Given the description of an element on the screen output the (x, y) to click on. 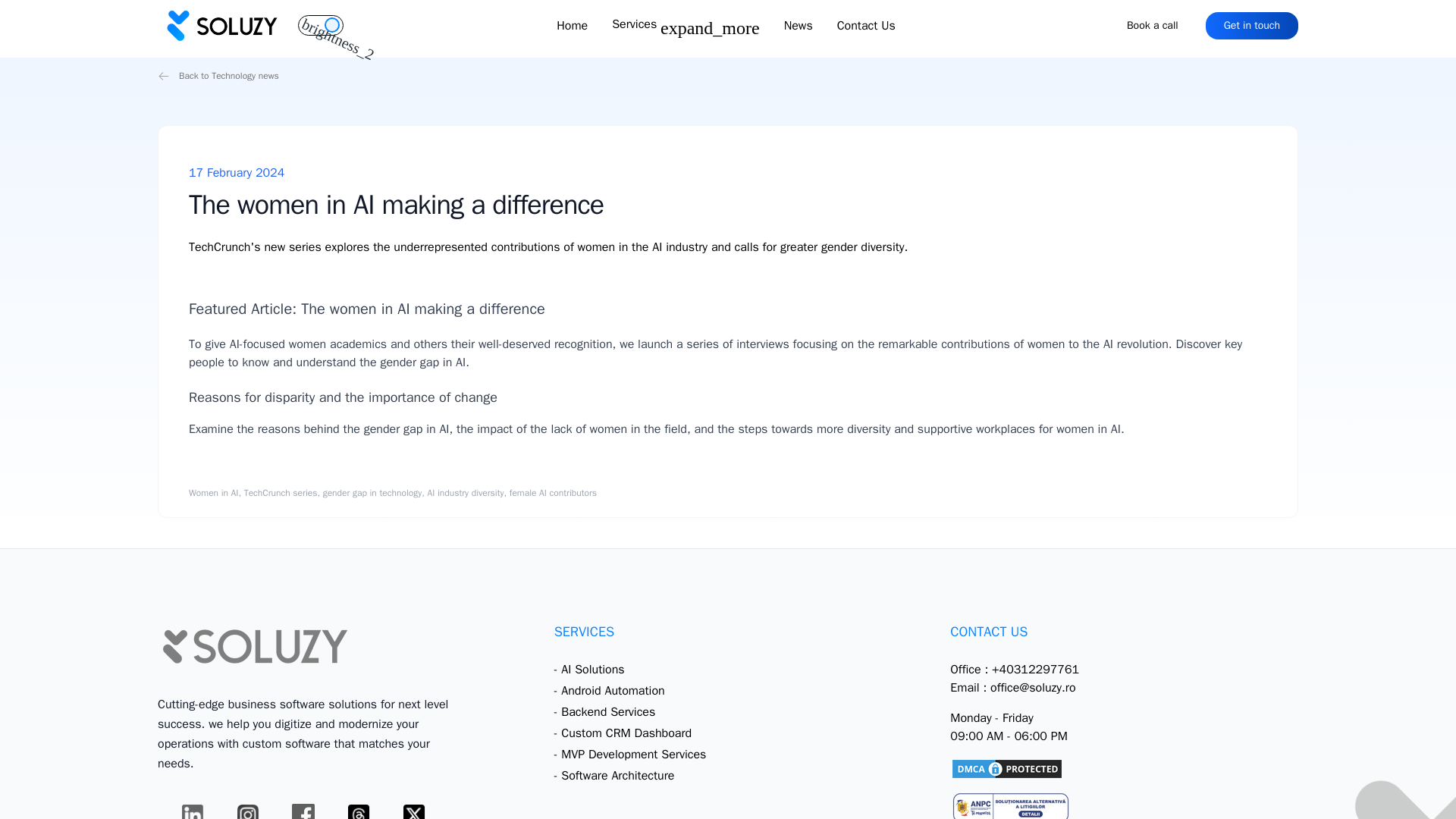
- Software Architecture (614, 775)
Book a call (1152, 25)
Home (572, 25)
Contact Us (866, 25)
- AI Solutions (589, 669)
News (798, 25)
- Backend Services (605, 711)
Back to Technology news (727, 75)
- MVP Development Services (630, 754)
- Custom CRM Dashboard (623, 733)
